Given the description of an element on the screen output the (x, y) to click on. 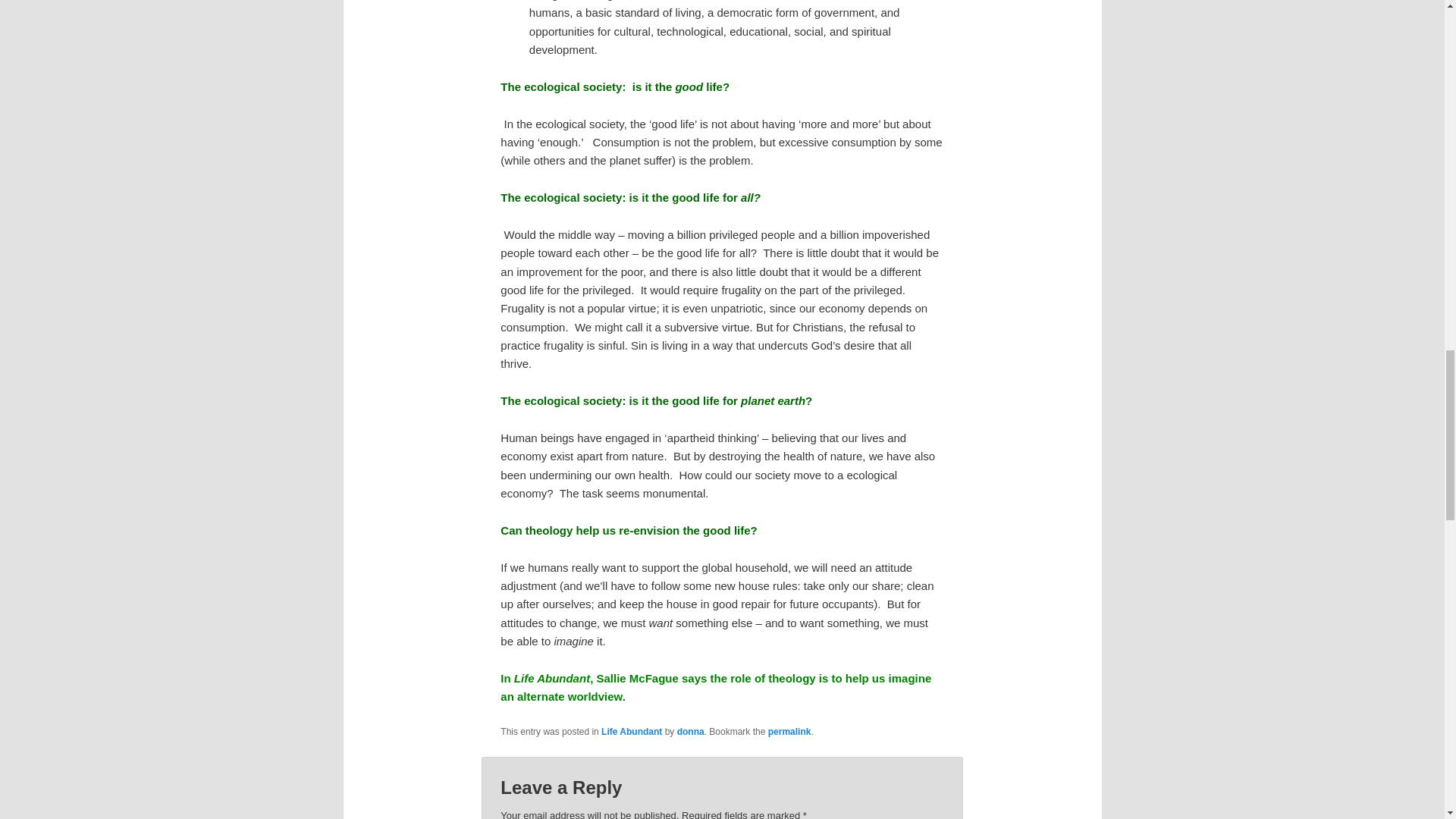
Life Abundant (631, 731)
donna (690, 731)
Permalink to Reading Chapter 5 (789, 731)
permalink (789, 731)
